Given the description of an element on the screen output the (x, y) to click on. 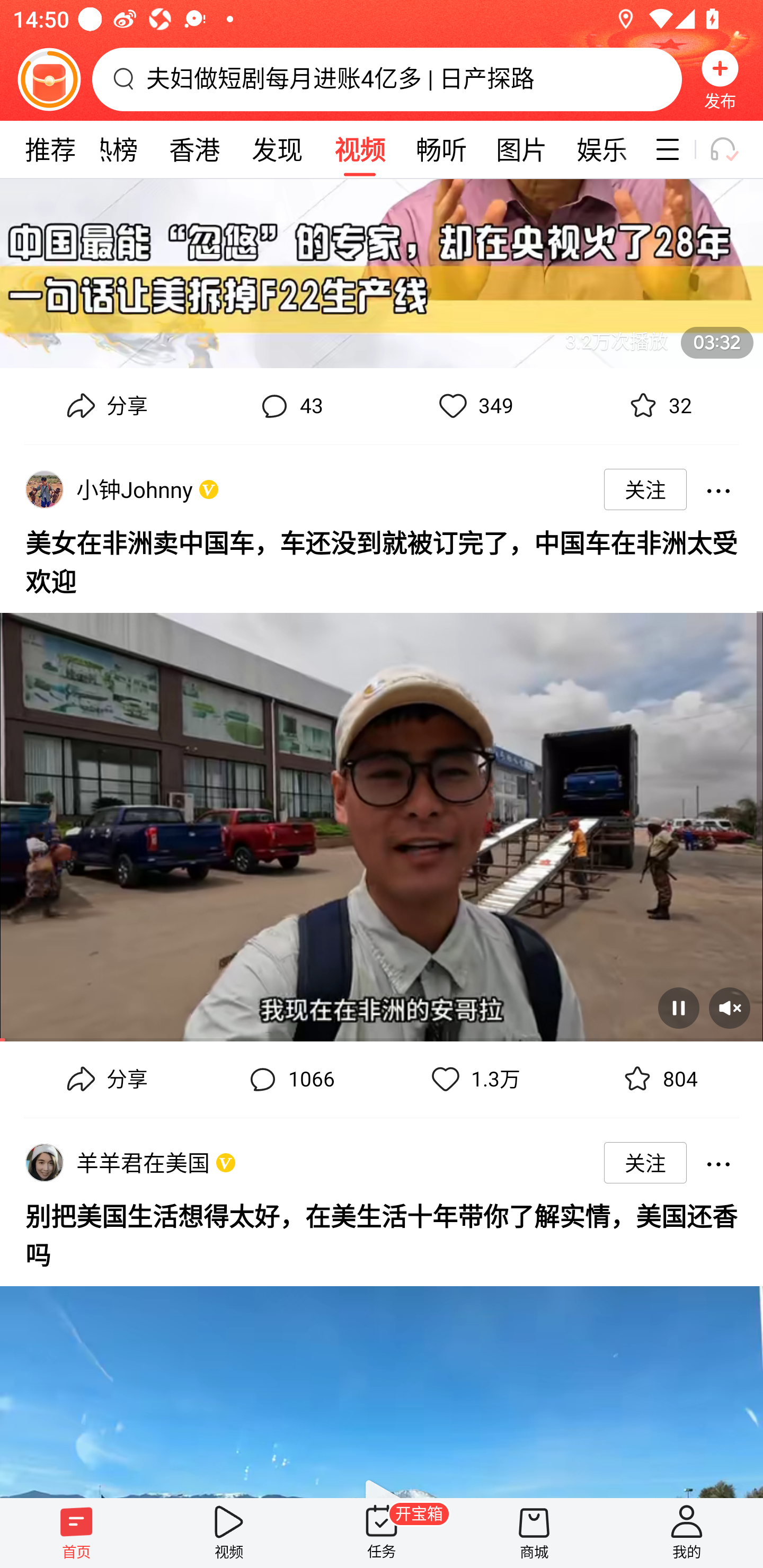
阅读赚金币 (48, 79)
夫妇做短剧每月进账4亿多 | 日产探路 搜索框，夫妇做短剧每月进账4亿多 | 日产探路 (387, 79)
发布 发布，按钮 (720, 78)
推荐 (49, 149)
香港 (194, 149)
发现 (276, 149)
视频 (359, 149)
畅听 (441, 149)
图片 (521, 149)
娱乐 (601, 149)
科技 (643, 149)
听一听开关 (732, 149)
分享 (104, 405)
评论,43 43 (288, 405)
收藏,32 32 (658, 405)
关注 (645, 488)
更多 (718, 488)
小钟Johnny头像 (44, 489)
小钟Johnny 小钟Johnny  已认证 (137, 488)
美女在非洲卖中国车，车还没到就被订完了，中国车在非洲太受欢迎 (381, 559)
视频播放器，双击唤起播放控制 取消静音 (381, 819)
取消静音 (729, 1007)
分享 (104, 1079)
评论,1066 1066 (288, 1079)
收藏,804 804 (658, 1079)
关注 (645, 1162)
更多 (718, 1162)
羊羊君在美国头像 (44, 1162)
羊羊君在美国 羊羊君在美国  已认证 (145, 1162)
别把美国生活想得太好，在美生活十年带你了解实情，美国还香吗 (381, 1232)
首页 (76, 1532)
视频 (228, 1532)
任务 开宝箱 (381, 1532)
商城 (533, 1532)
我的 (686, 1532)
